Given the description of an element on the screen output the (x, y) to click on. 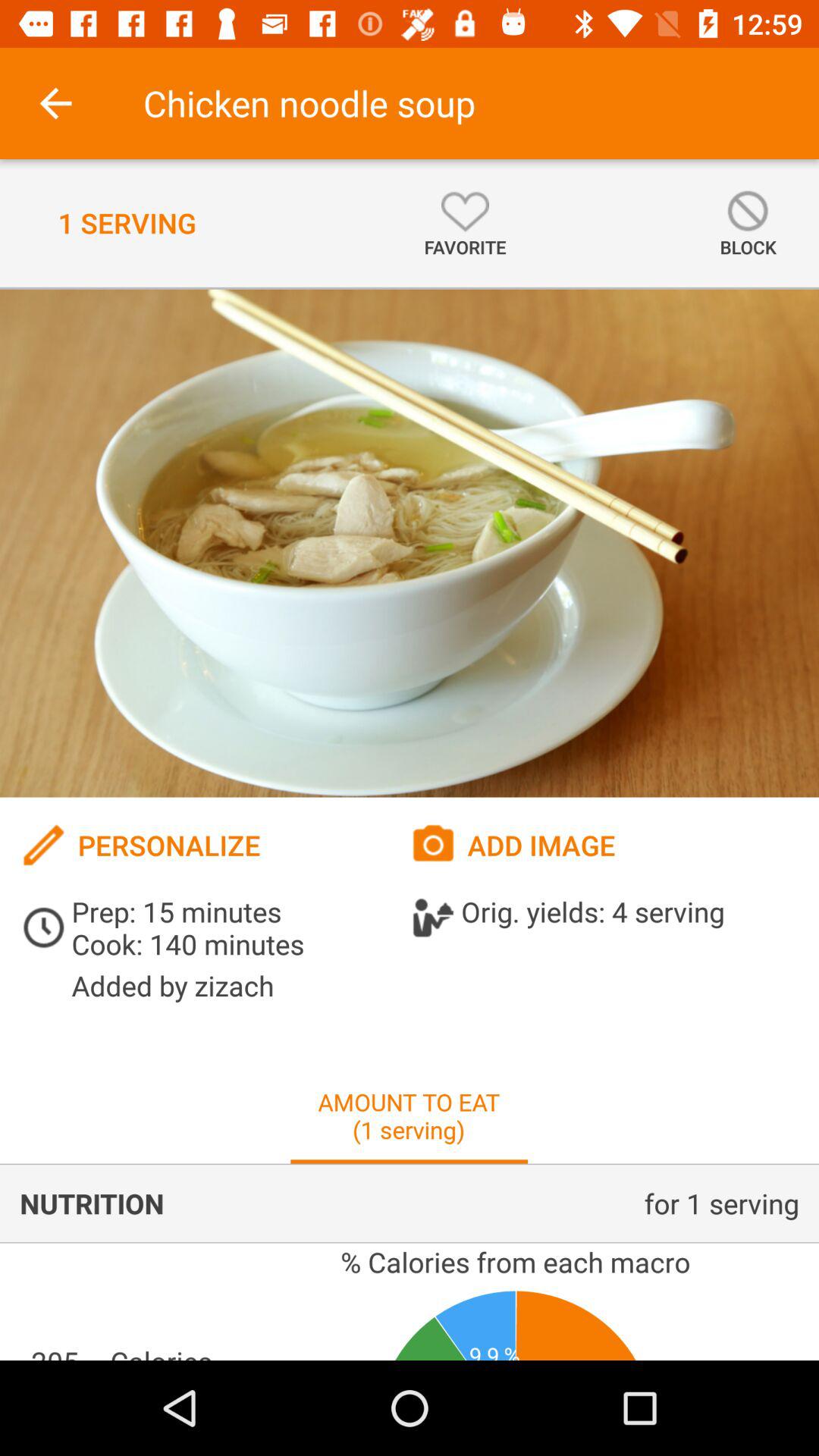
select the chicken noodle soup icon (309, 103)
